Given the description of an element on the screen output the (x, y) to click on. 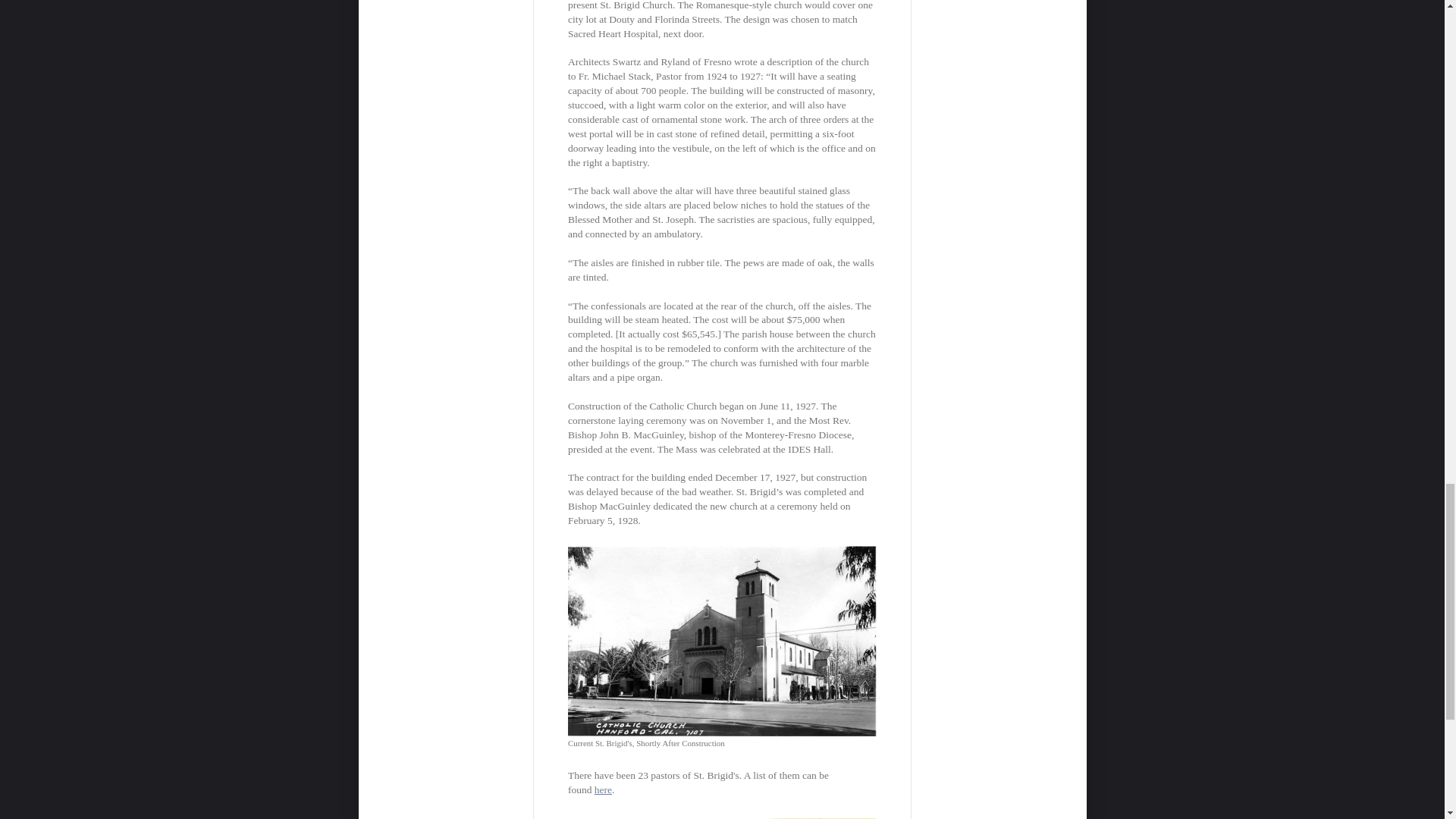
Current St. Brigid's, Shortly After Construction (721, 647)
